Given the description of an element on the screen output the (x, y) to click on. 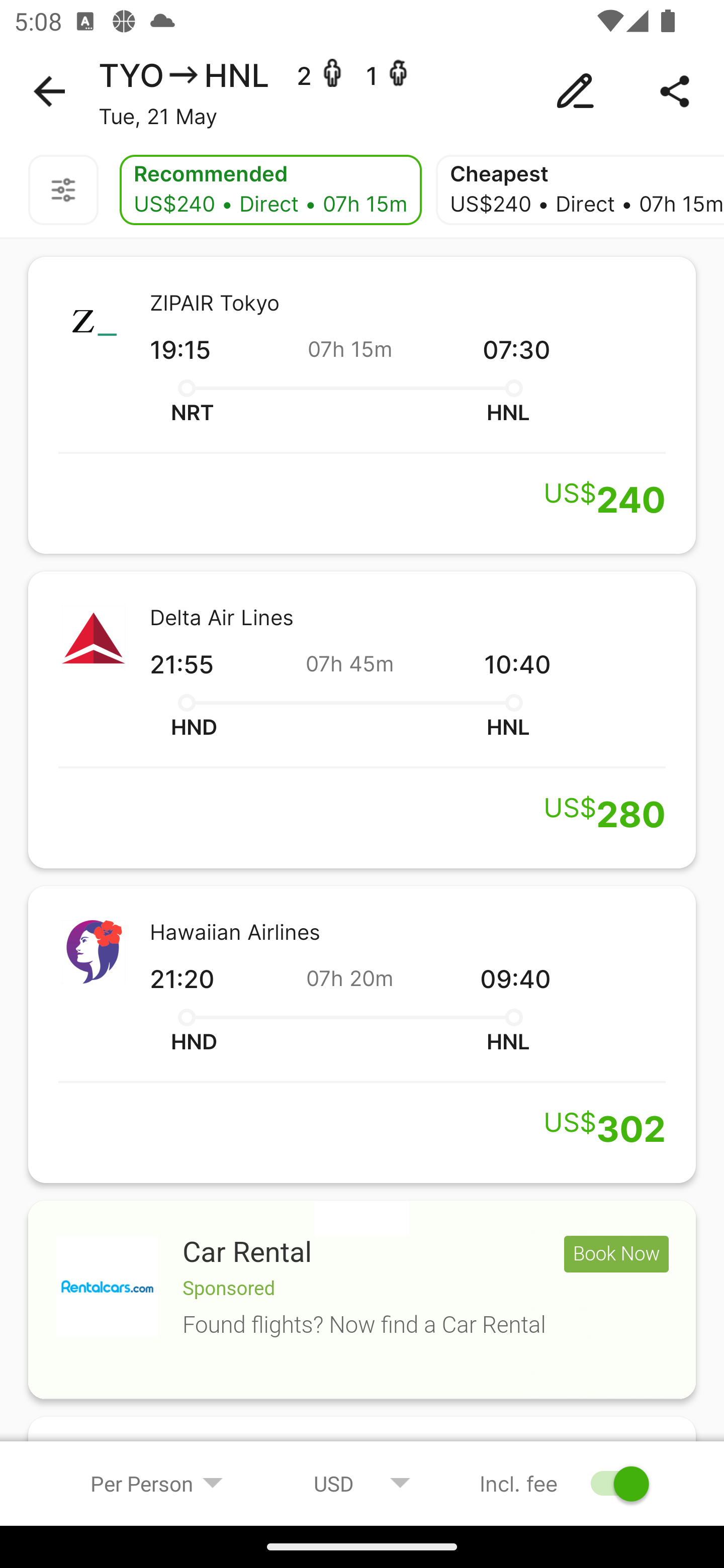
TYO HNL   2 -   1 - Tue, 21 May (361, 91)
Recommended  US$240 • Direct • 07h 15m (270, 190)
Cheapest US$240 • Direct • 07h 15m (579, 190)
ZIPAIR Tokyo 19:15 07h 15m 07:30 NRT HNL (361, 405)
Delta Air Lines 21:55 07h 45m 10:40 HND HNL (361, 719)
Hawaiian Airlines 21:20 07h 20m 09:40 HND HNL (361, 1033)
Per Person (156, 1482)
USD (361, 1482)
